Given the description of an element on the screen output the (x, y) to click on. 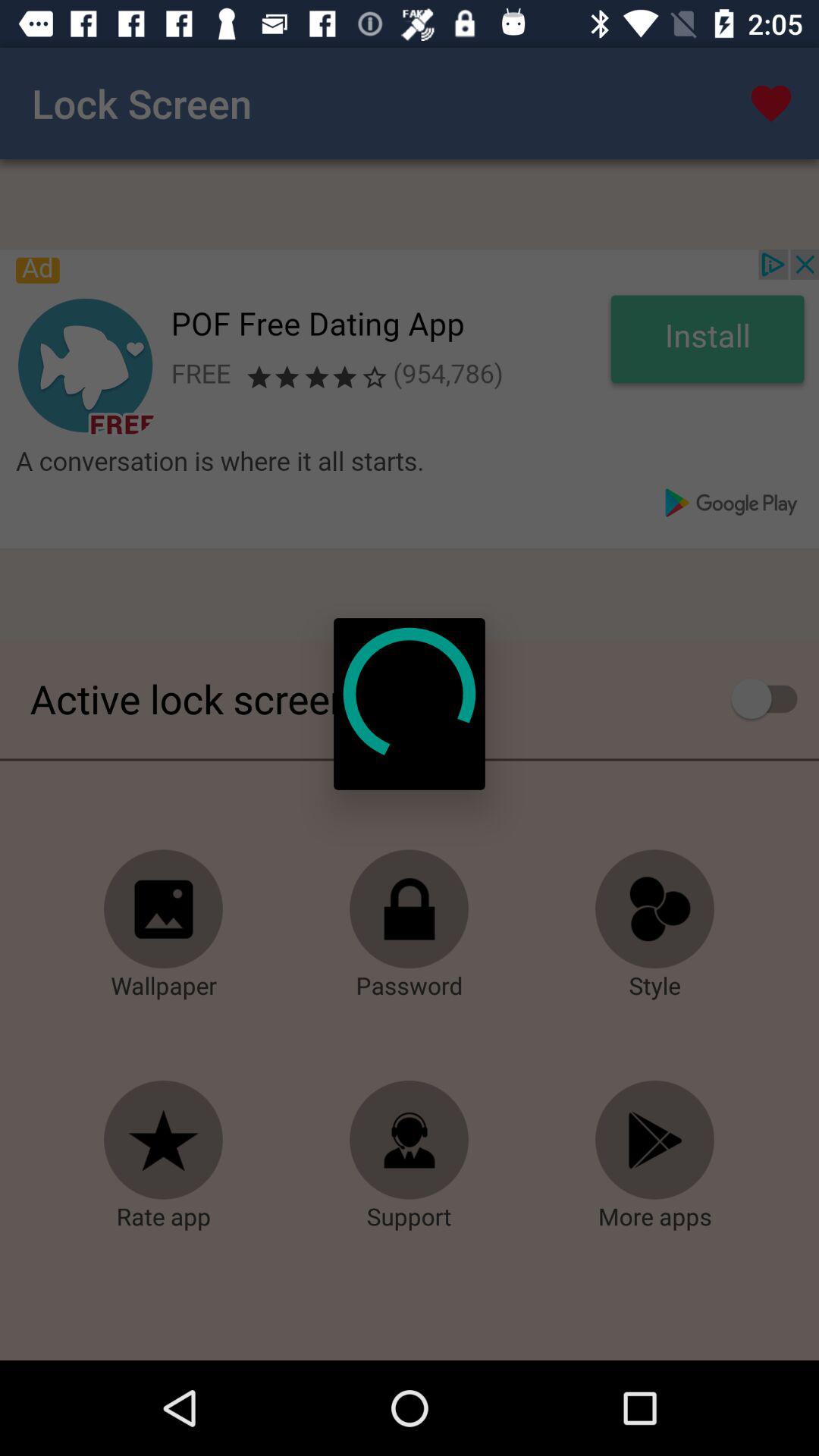
on-off (771, 698)
